Given the description of an element on the screen output the (x, y) to click on. 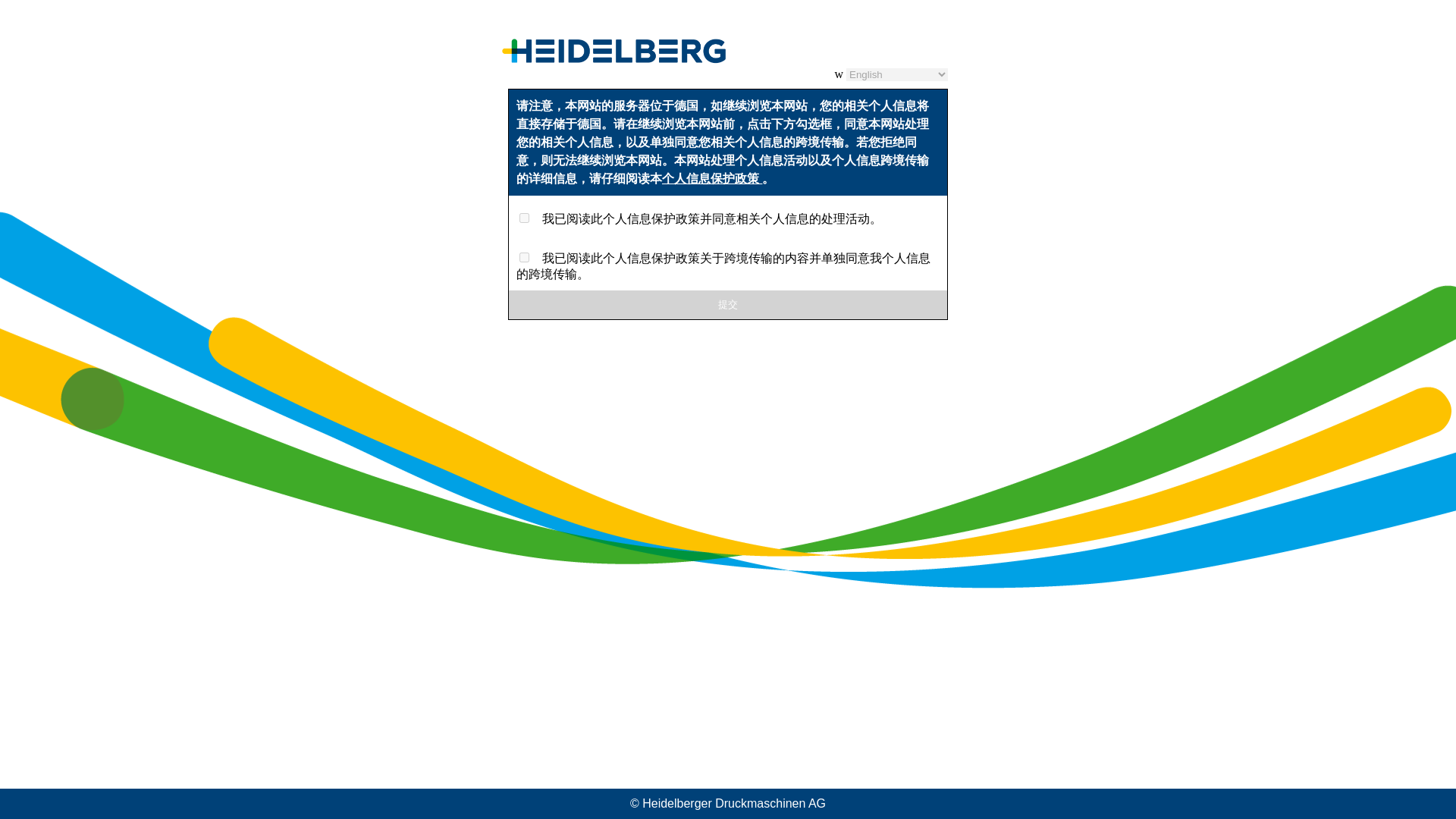
on (524, 257)
on (524, 217)
